Given the description of an element on the screen output the (x, y) to click on. 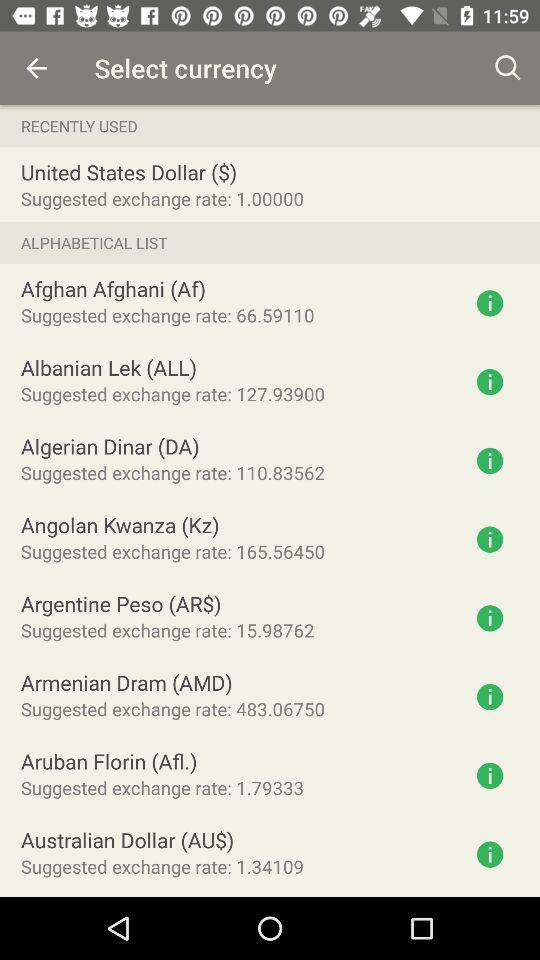
get information (490, 854)
